Given the description of an element on the screen output the (x, y) to click on. 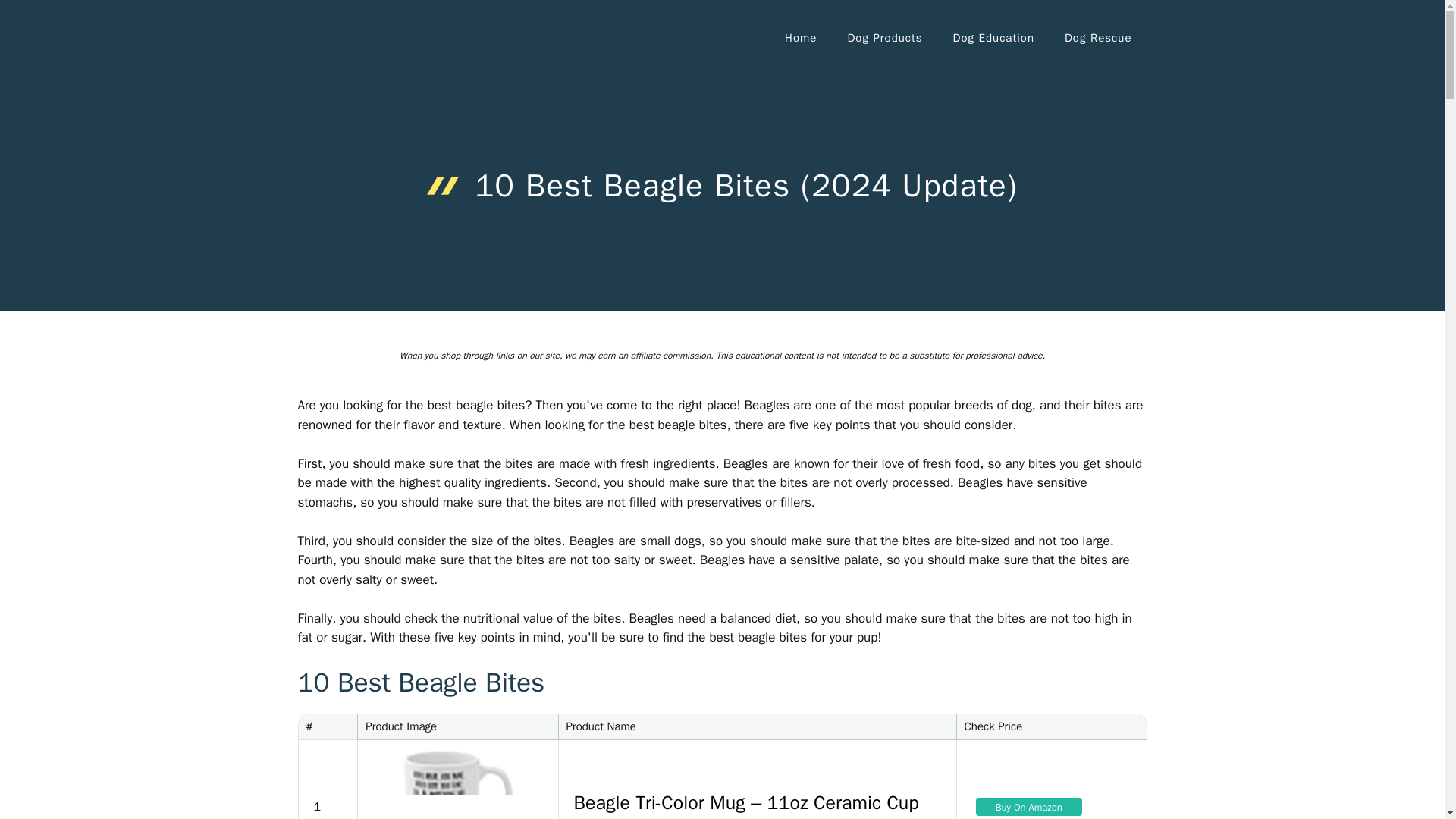
Buy On Amazon (1028, 806)
Dog Products (884, 37)
Dog Education (993, 37)
Home (800, 37)
Dog Rescue (1098, 37)
Check details from Amazon (1028, 806)
